Given the description of an element on the screen output the (x, y) to click on. 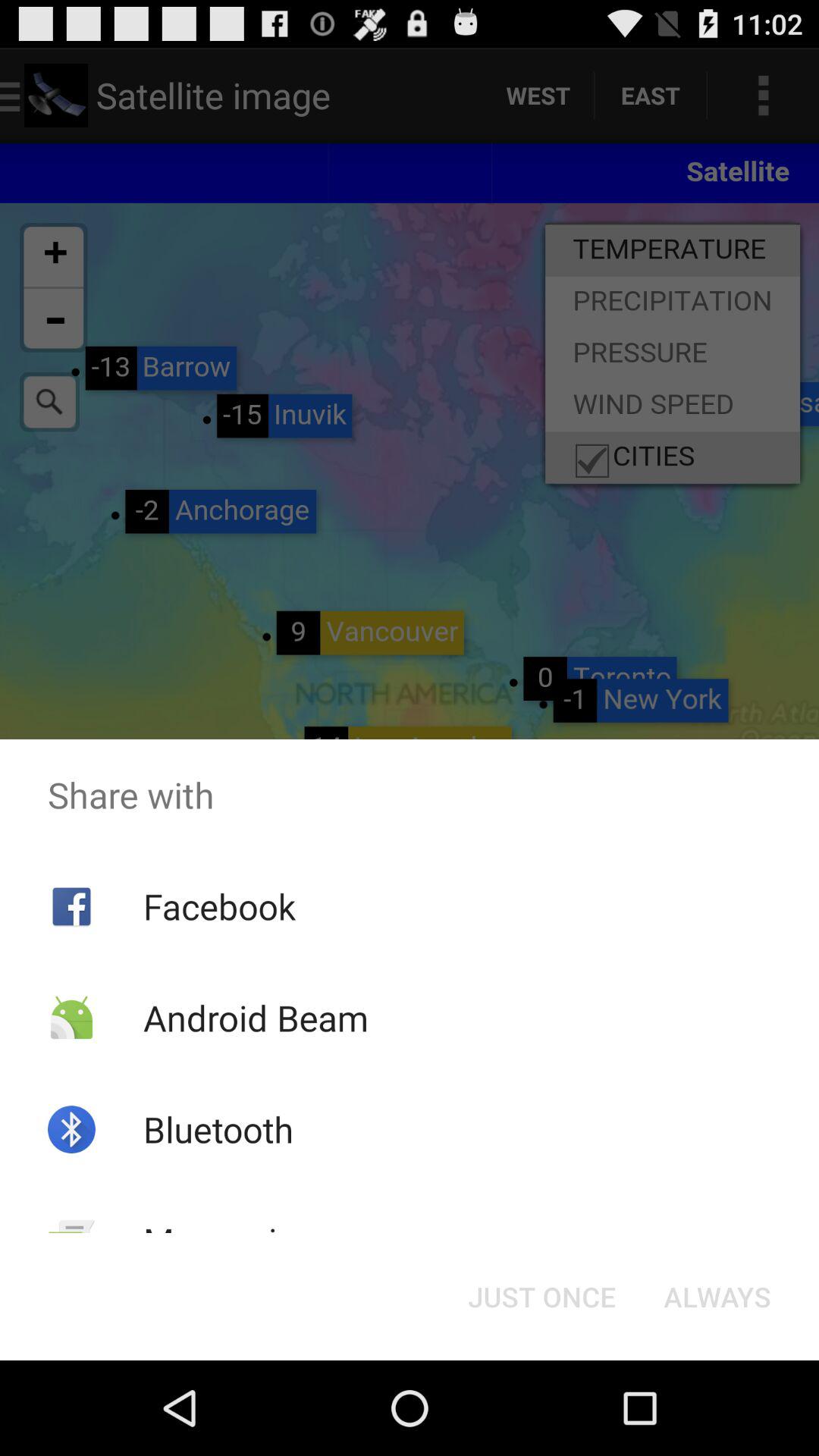
open the app next to the messaging (541, 1296)
